Given the description of an element on the screen output the (x, y) to click on. 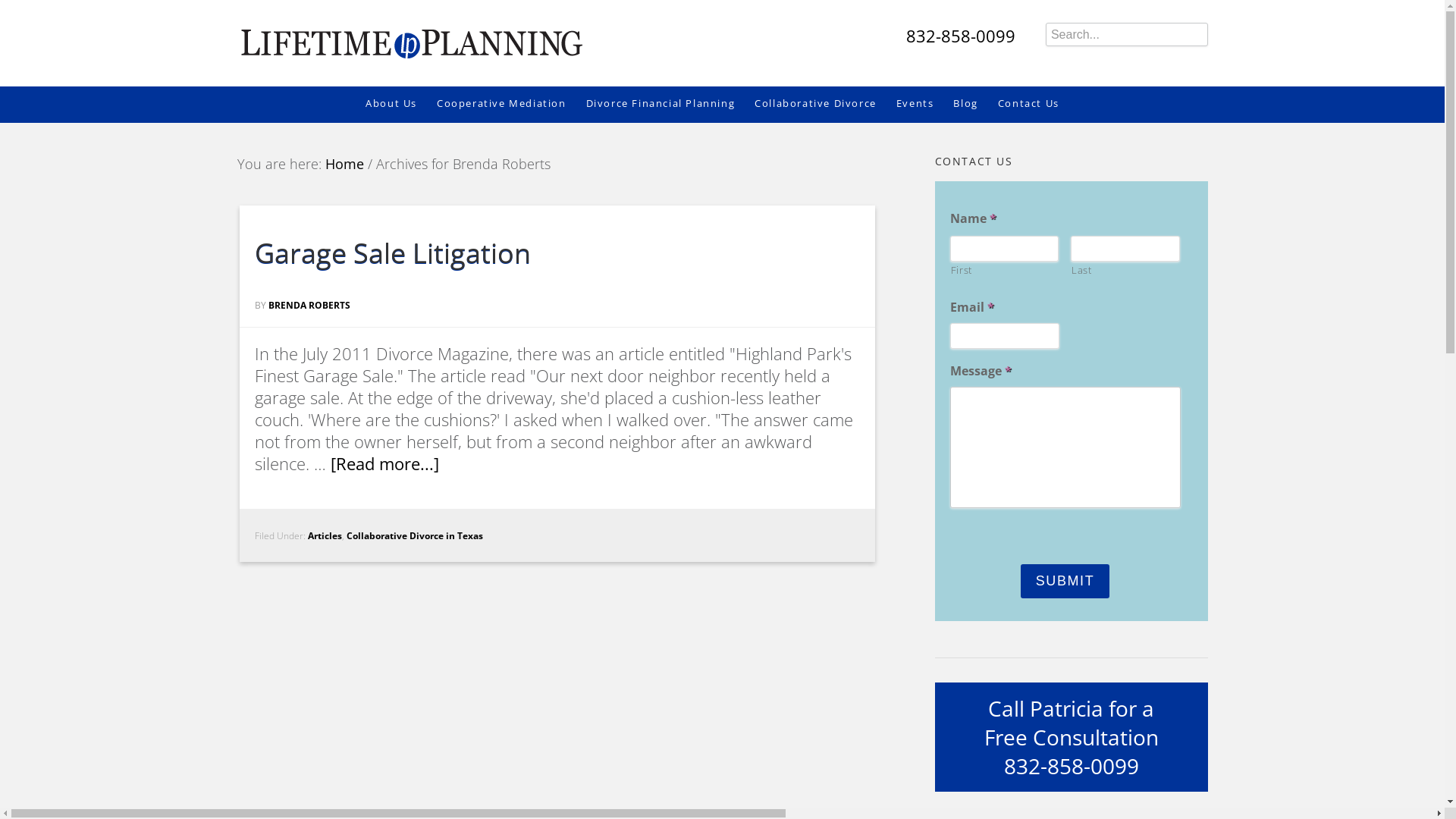
Collaborative Divorce in Texas Element type: text (413, 535)
Garage Sale Litigation Element type: text (392, 252)
Blog Element type: text (975, 103)
Submit Element type: text (1065, 581)
Articles Element type: text (324, 535)
Collaborative Divorce Element type: text (825, 103)
Contact Us Element type: text (1038, 103)
[Read more...] Element type: text (384, 463)
Events Element type: text (924, 103)
Cooperative Mediation Element type: text (511, 103)
Divorce Financial Planning Element type: text (670, 103)
BRENDA ROBERTS Element type: text (309, 304)
832-858-0099 Element type: text (960, 36)
About Us Element type: text (400, 103)
Home Element type: text (343, 163)
Lifetime Planning Element type: text (409, 37)
